Given the description of an element on the screen output the (x, y) to click on. 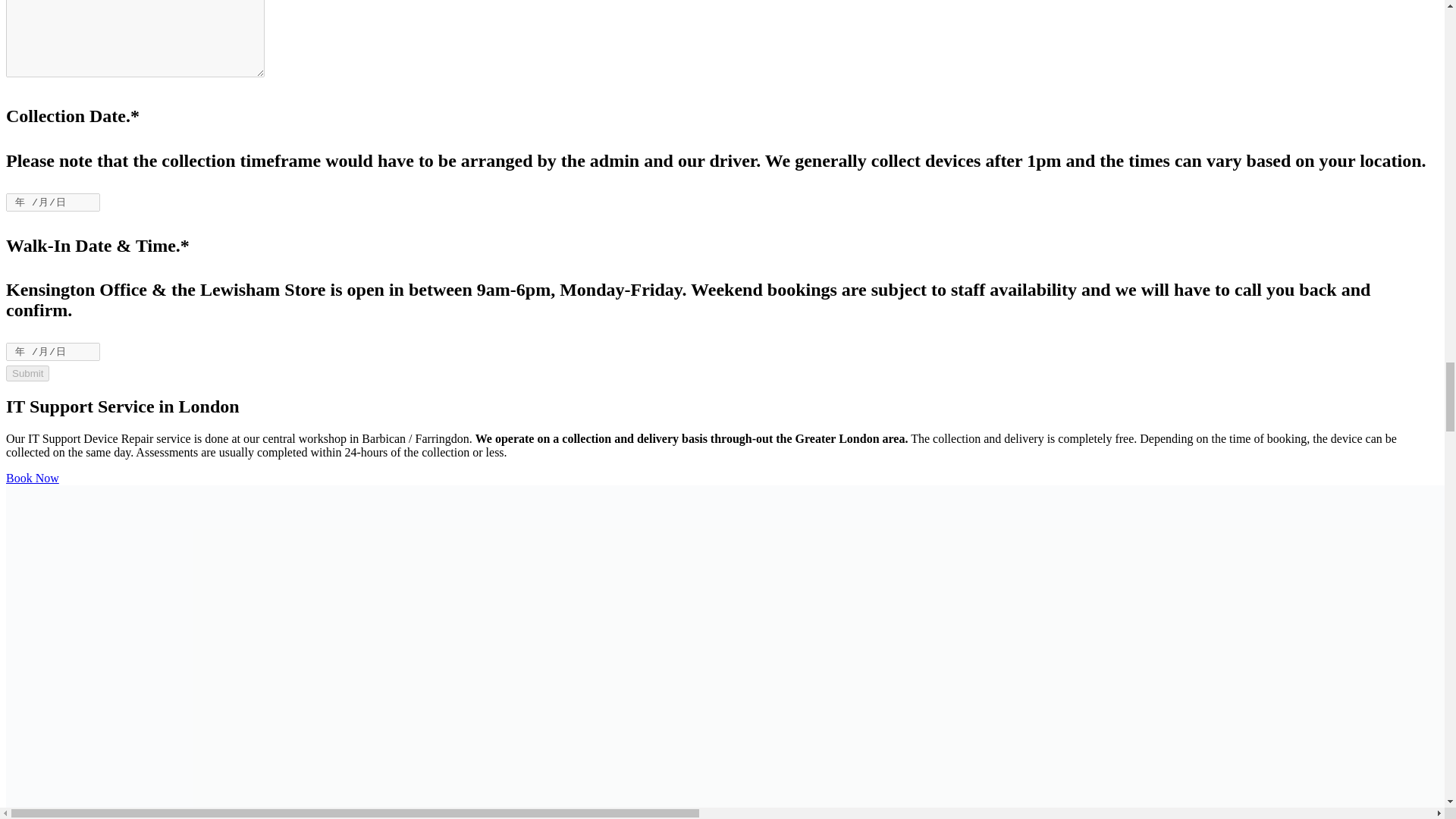
Submit (27, 373)
